Given the description of an element on the screen output the (x, y) to click on. 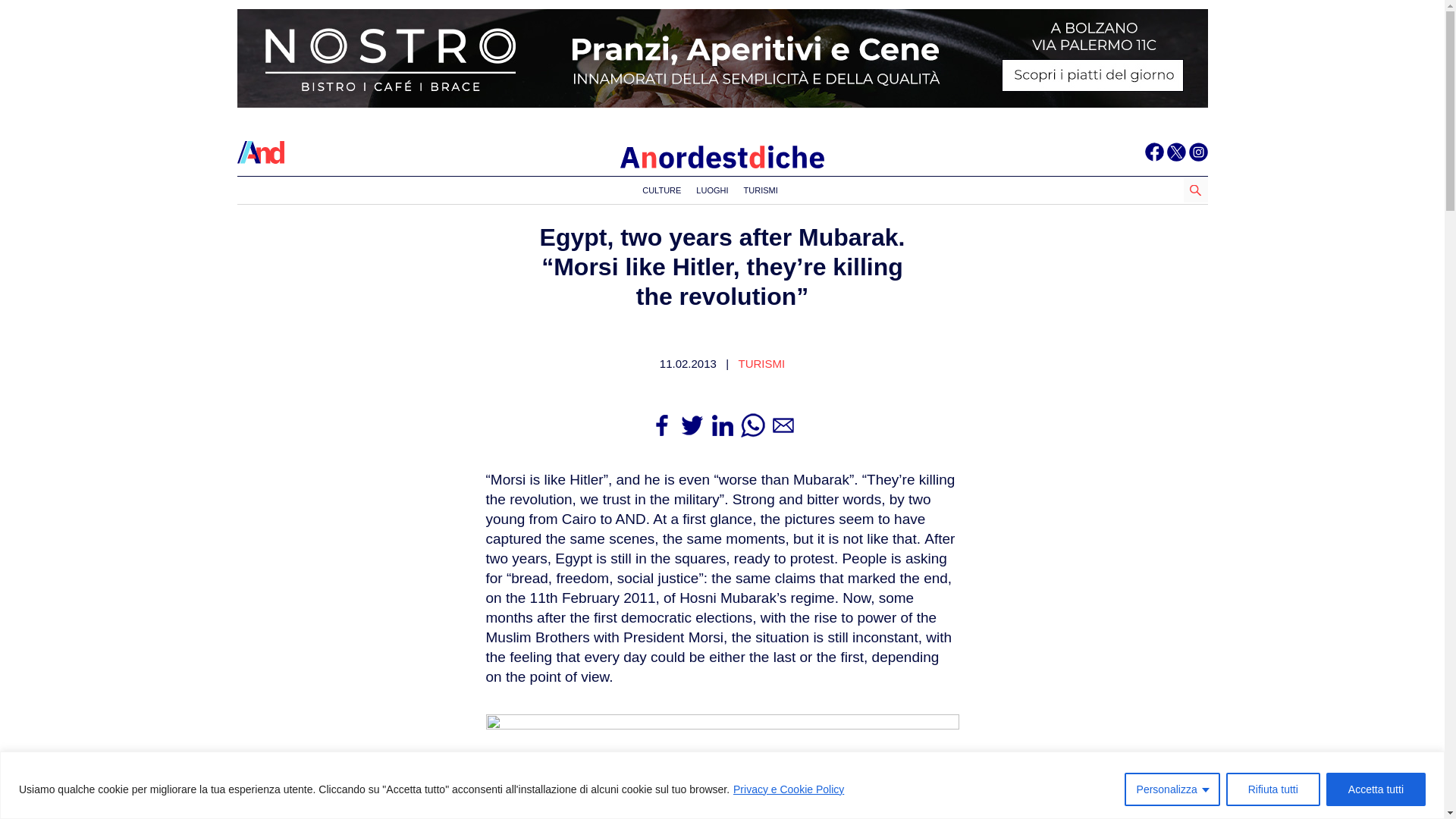
CULTURE (661, 189)
Privacy e Cookie Policy (788, 789)
Egitto-scontri (721, 766)
TURISMI (761, 189)
Accetta tutti (1375, 788)
LUOGHI (711, 189)
Rifiuta tutti (1272, 788)
Personalizza (1172, 788)
